Given the description of an element on the screen output the (x, y) to click on. 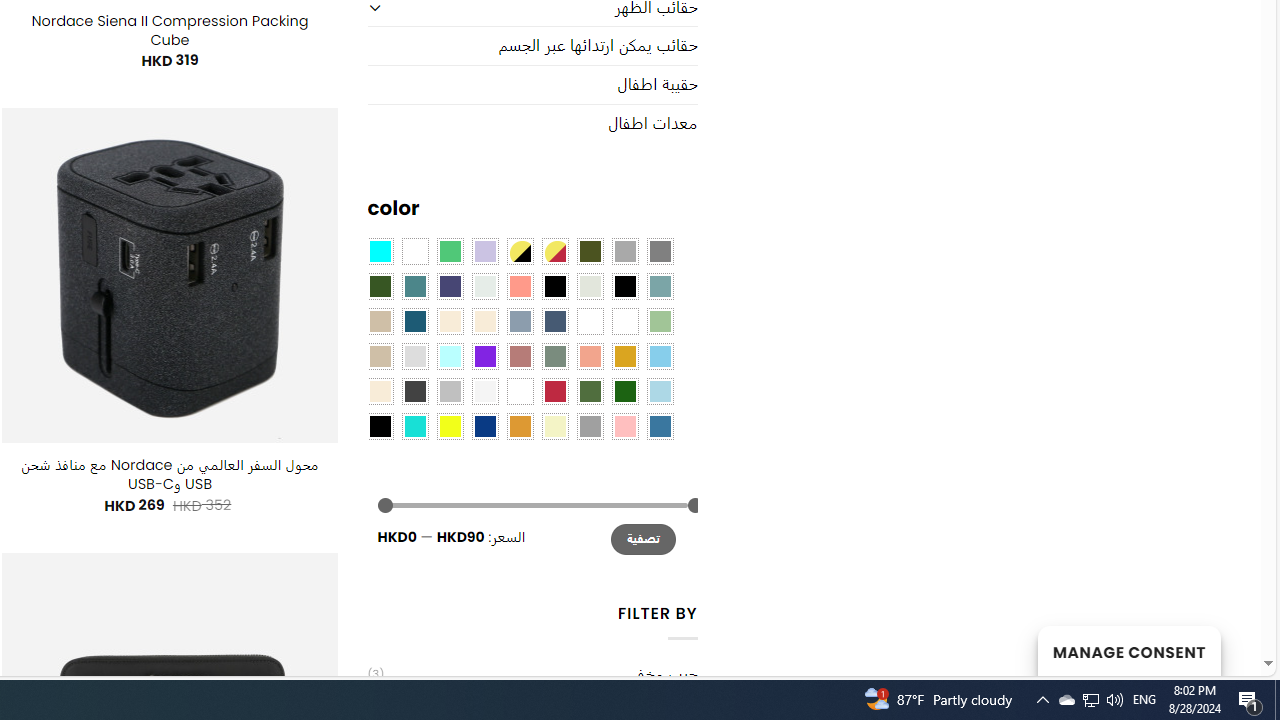
Emerald Green (449, 251)
Light-Gray (414, 355)
Blue Sage (659, 285)
Teal (414, 285)
Cream (484, 321)
